Given the description of an element on the screen output the (x, y) to click on. 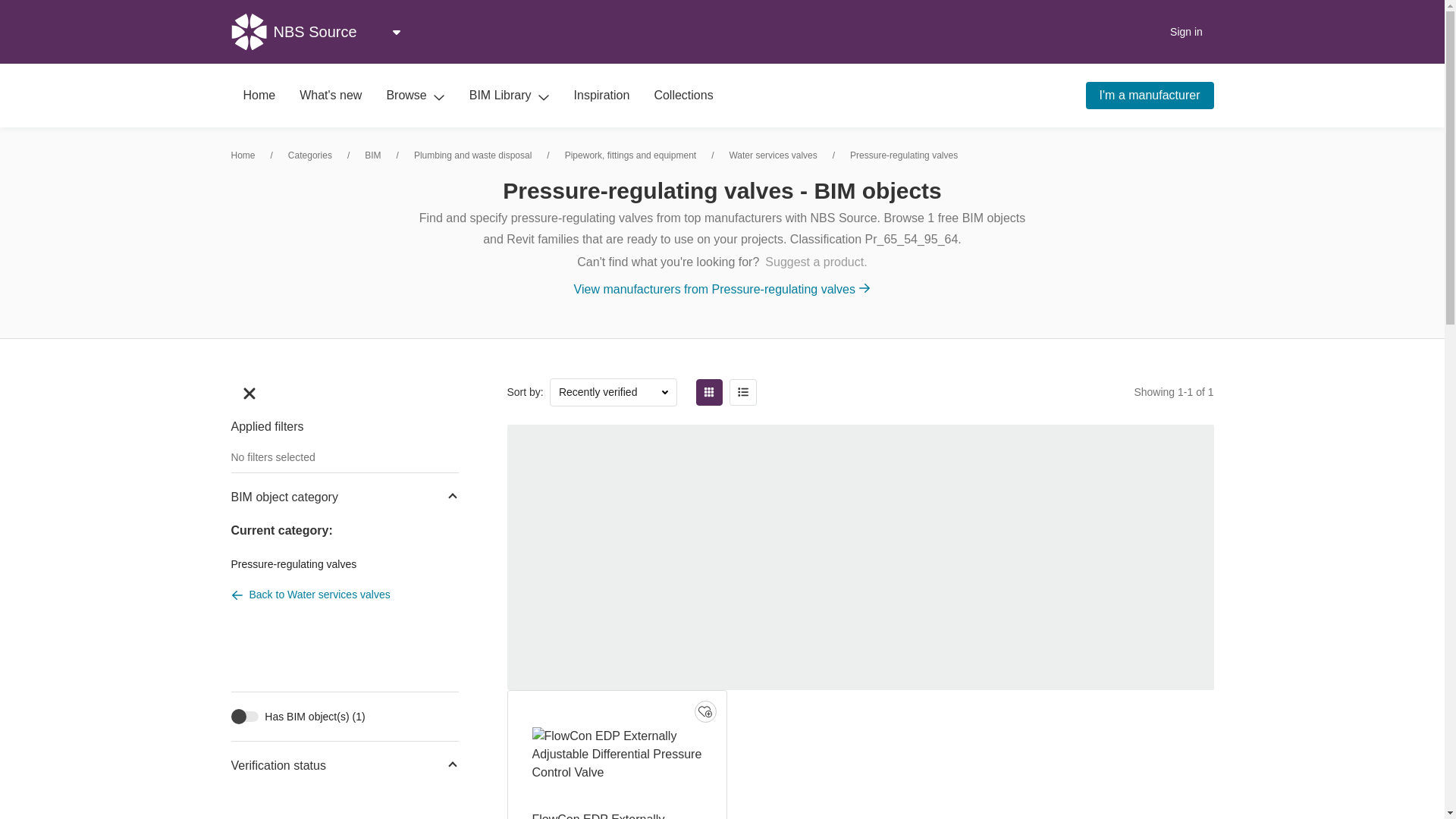
Back to Water services valves (344, 594)
Inspiration (602, 95)
Plumbing and waste disposal (472, 155)
Collections (683, 95)
What's new (330, 95)
Pipework, fittings and equipment (629, 155)
View manufacturers from Pressure-regulating valves (721, 289)
Collections (683, 95)
Homepage (258, 95)
Water services valves (772, 155)
Home (258, 95)
Browse (415, 95)
I'm a manufacturer (1150, 94)
Categories (309, 155)
Suggest a product. (815, 262)
